Given the description of an element on the screen output the (x, y) to click on. 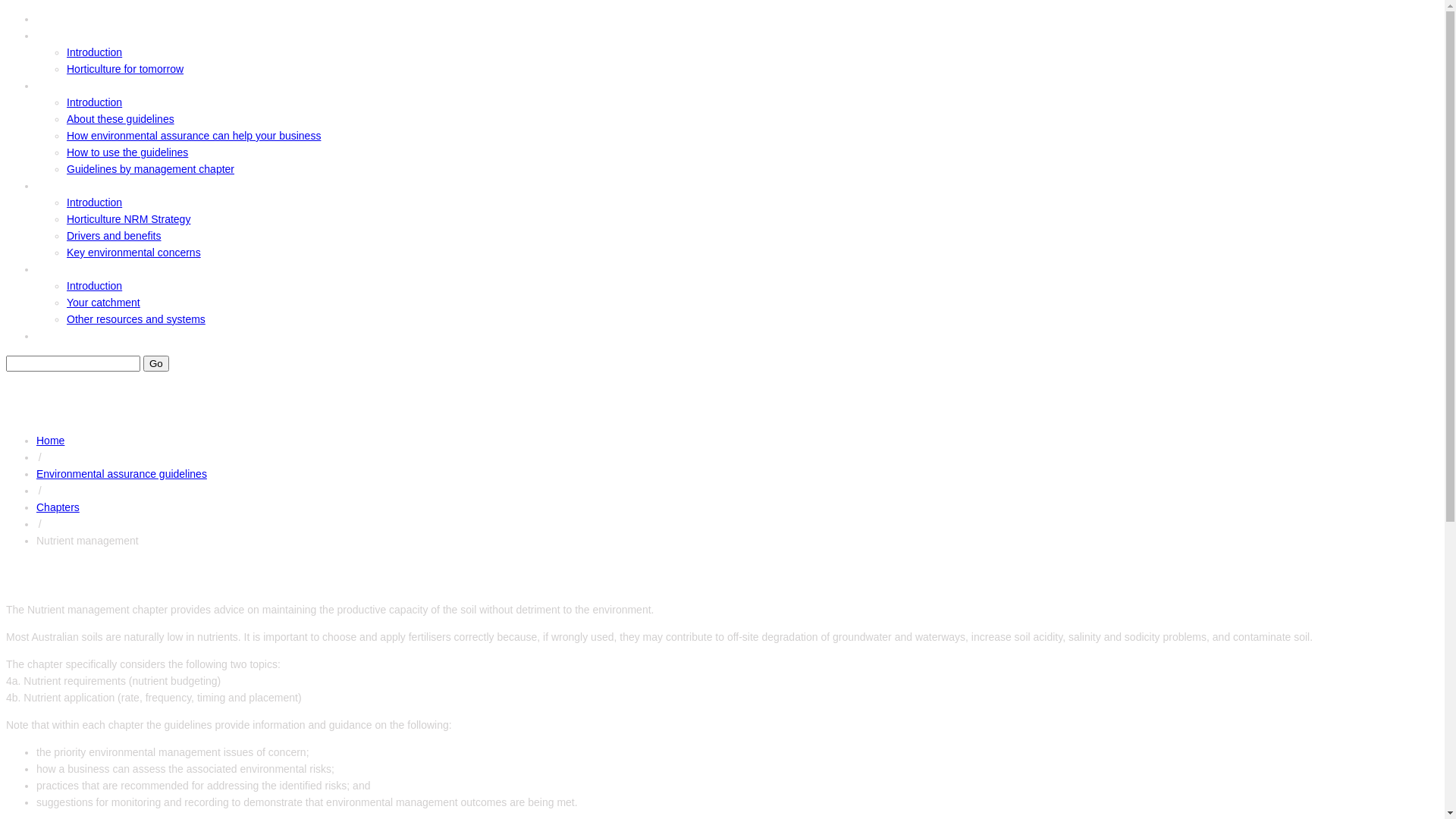
Home Element type: text (50, 440)
Environmental assurance guidelines Element type: text (121, 473)
Home Element type: text (50, 18)
Horticulture & the environment Element type: text (107, 185)
About us Element type: text (56, 35)
About these guidelines Element type: text (120, 118)
Introduction Element type: text (94, 202)
Horticulture for tomorrow Element type: text (124, 68)
Contact us Element type: text (60, 335)
Other resources and systems Element type: text (135, 319)
Your catchment Element type: text (103, 302)
Introduction Element type: text (94, 285)
How to use the guidelines Element type: text (127, 152)
Environmental assurance guidelines Element type: text (117, 85)
For growers Element type: text (63, 269)
Drivers and benefits Element type: text (113, 235)
Go Element type: text (156, 363)
Horticulture NRM Strategy Element type: text (128, 219)
Key environmental concerns Element type: text (133, 252)
Introduction Element type: text (94, 52)
Chapters Element type: text (57, 507)
Guidelines by management chapter Element type: text (150, 169)
How environmental assurance can help your business Element type: text (193, 135)
Introduction Element type: text (94, 102)
